Given the description of an element on the screen output the (x, y) to click on. 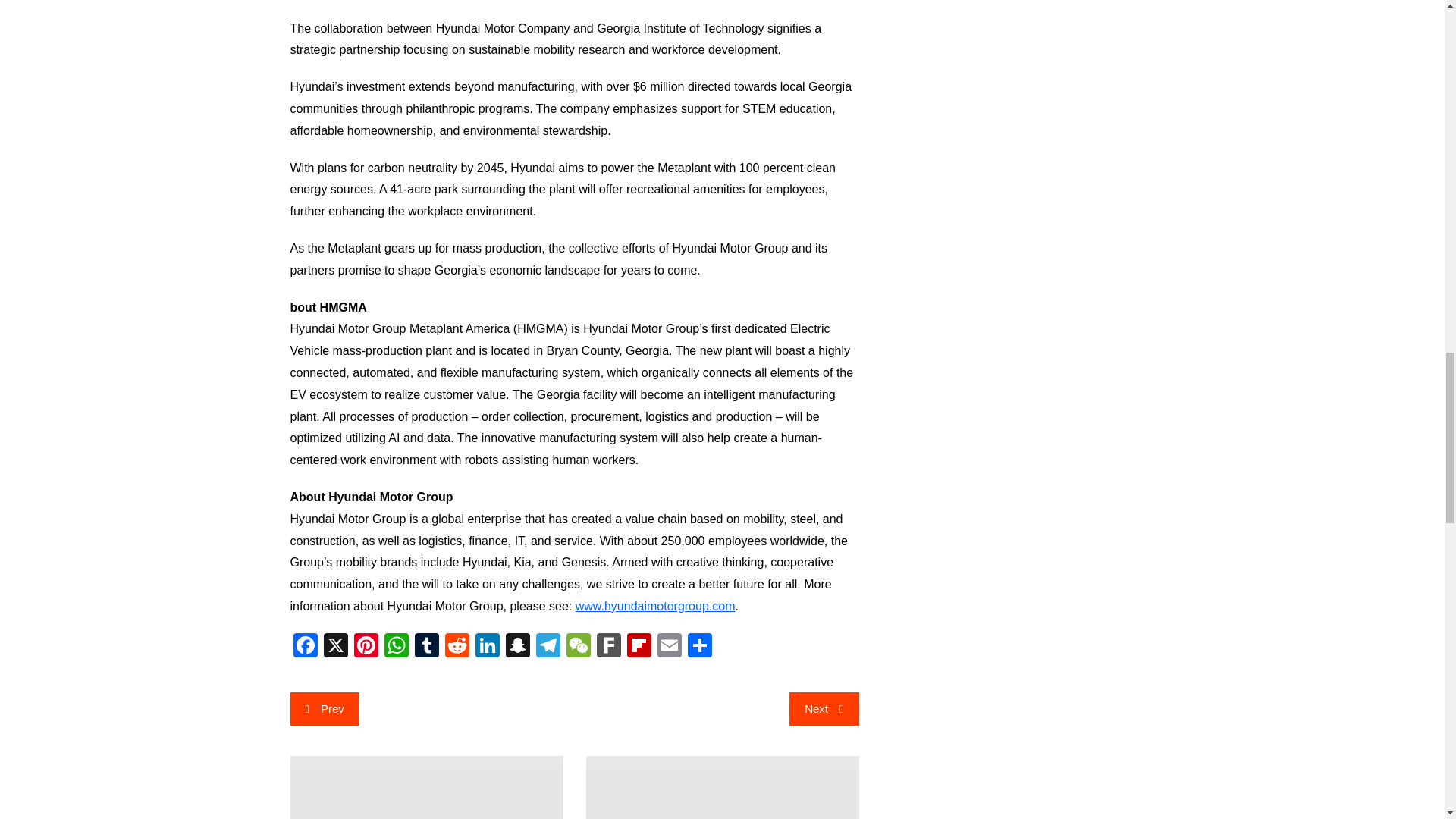
Pinterest (365, 647)
Email (668, 647)
LinkedIn (486, 647)
WhatsApp (395, 647)
X (335, 647)
Facebook (304, 647)
Snapchat (517, 647)
X (335, 647)
www.hyundaimotorgroup.com (655, 605)
Reddit (456, 647)
